Given the description of an element on the screen output the (x, y) to click on. 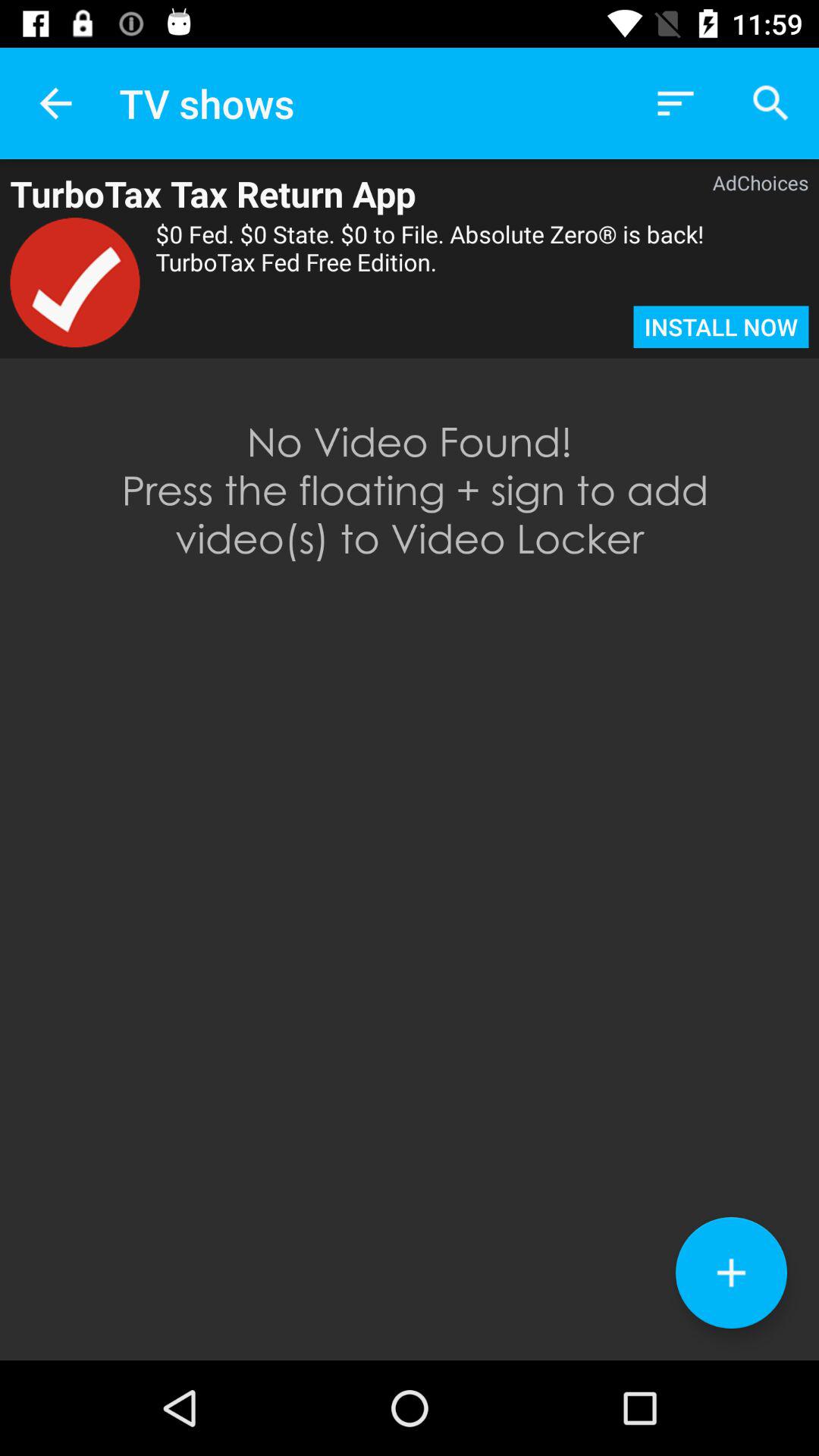
open the item at the bottom right corner (731, 1272)
